Given the description of an element on the screen output the (x, y) to click on. 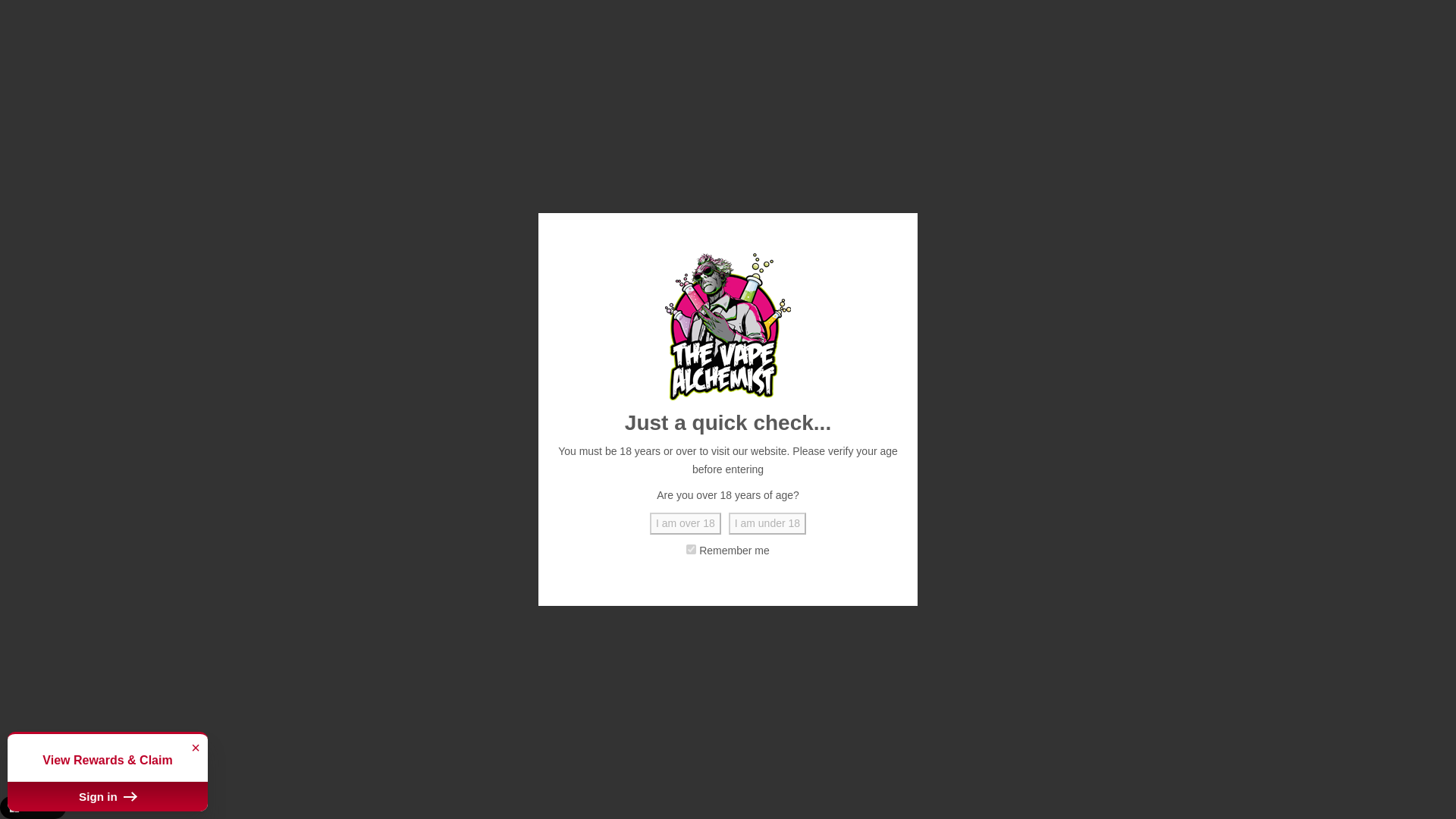
search (967, 73)
I am under 18 (767, 523)
1 (845, 474)
0 (1249, 74)
01270 368814 (236, 17)
Customer reviews powered by Trustpilot (727, 16)
VG (253, 773)
1 (690, 549)
VAPING PRODUCTS (317, 131)
E-LIQUID (218, 131)
I am over 18 (684, 523)
